Given the description of an element on the screen output the (x, y) to click on. 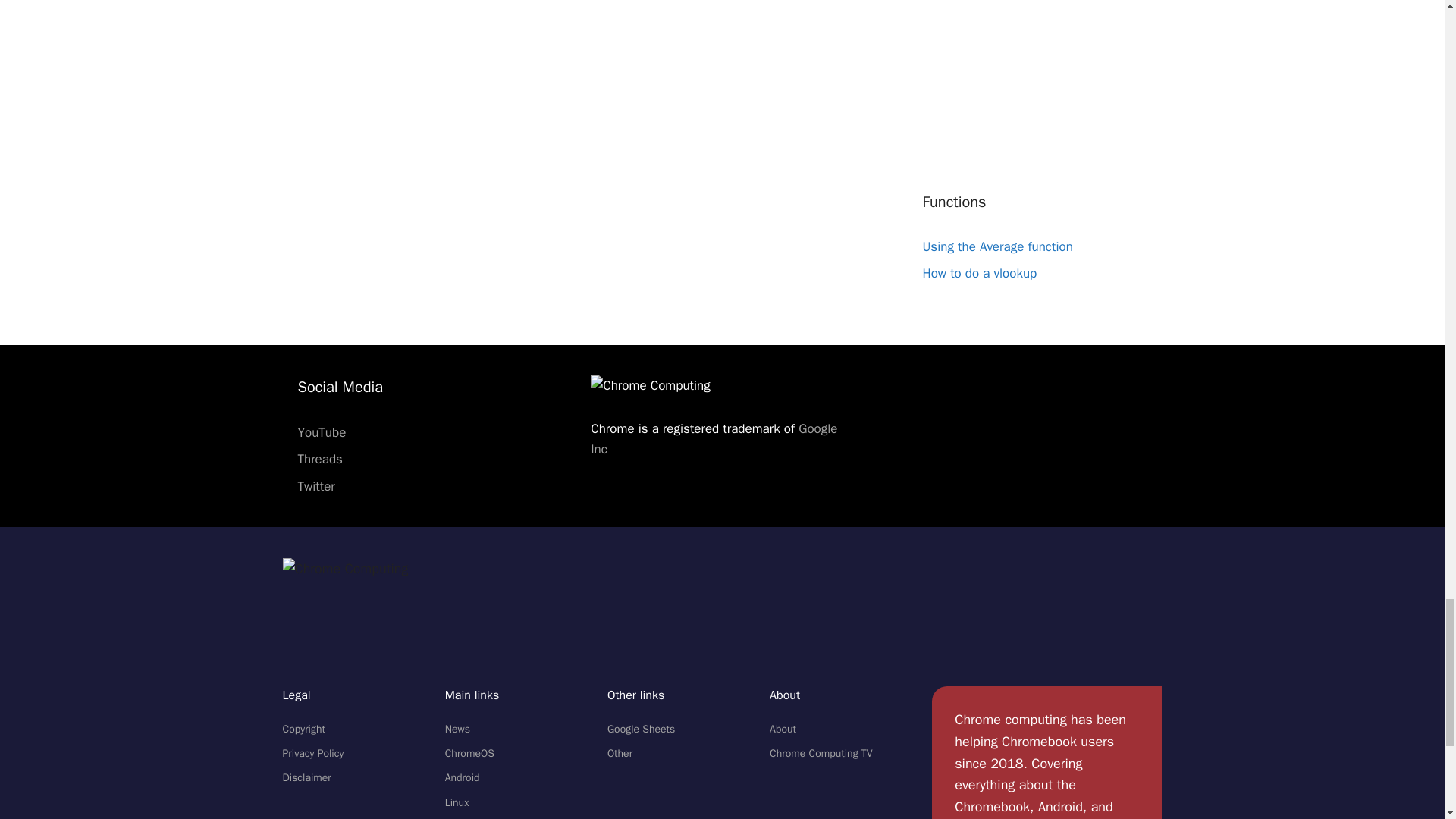
chrome-computing-logo-small-standard (344, 568)
